Given the description of an element on the screen output the (x, y) to click on. 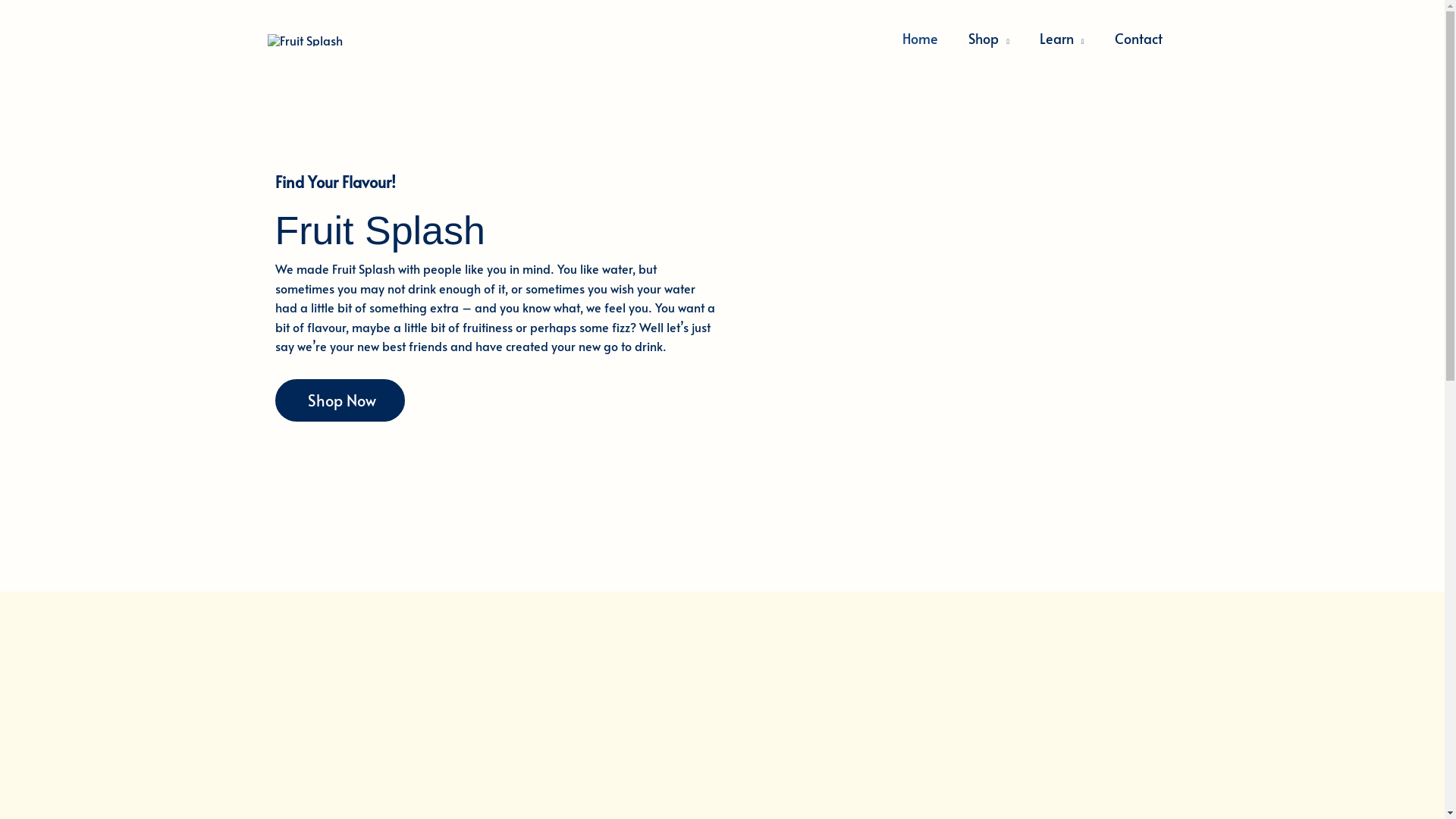
Contact Element type: text (1138, 38)
Learn Element type: text (1061, 38)
Home Element type: text (920, 38)
Shop Now Element type: text (339, 400)
Shop Element type: text (988, 38)
